Given the description of an element on the screen output the (x, y) to click on. 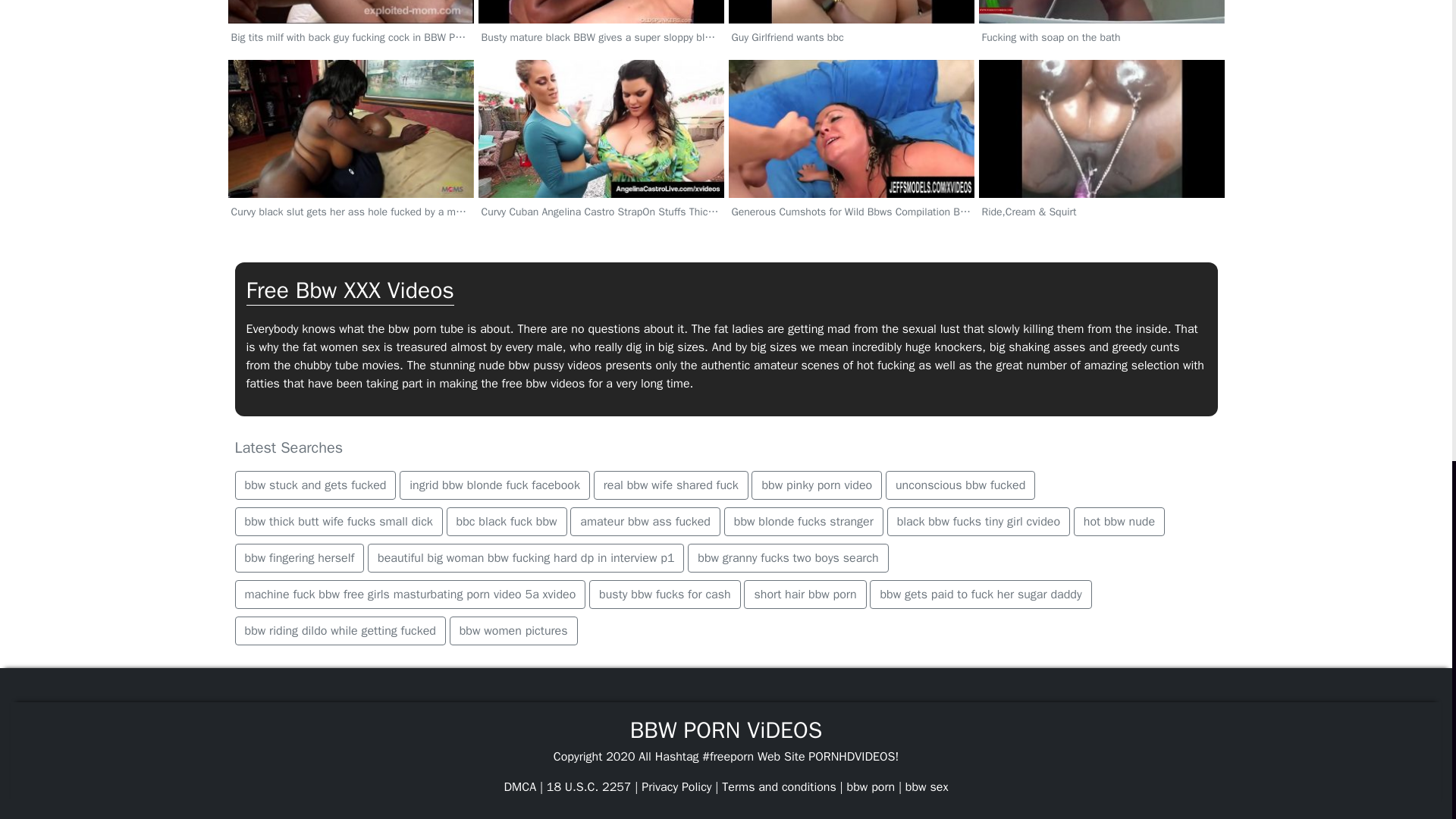
bbw stuck and gets fucked (315, 484)
bbw gets paid to fuck her sugar daddy (979, 594)
bbw thick butt wife fucks small dick (338, 521)
short hair bbw porn (805, 594)
bbw women pictures (513, 630)
bbw fingering herself (299, 557)
ingrid bbw blonde fuck facebook (493, 484)
bbw stuck and gets fucked (315, 484)
amateur bbw ass fucked (645, 521)
bbw granny fucks two boys search (787, 557)
unconscious bbw fucked (960, 484)
bbc black fuck bbw (506, 521)
Curvy Cuban Angelina Castro StrapOn Stuffs Thick Ms Raquel (601, 173)
